Given the description of an element on the screen output the (x, y) to click on. 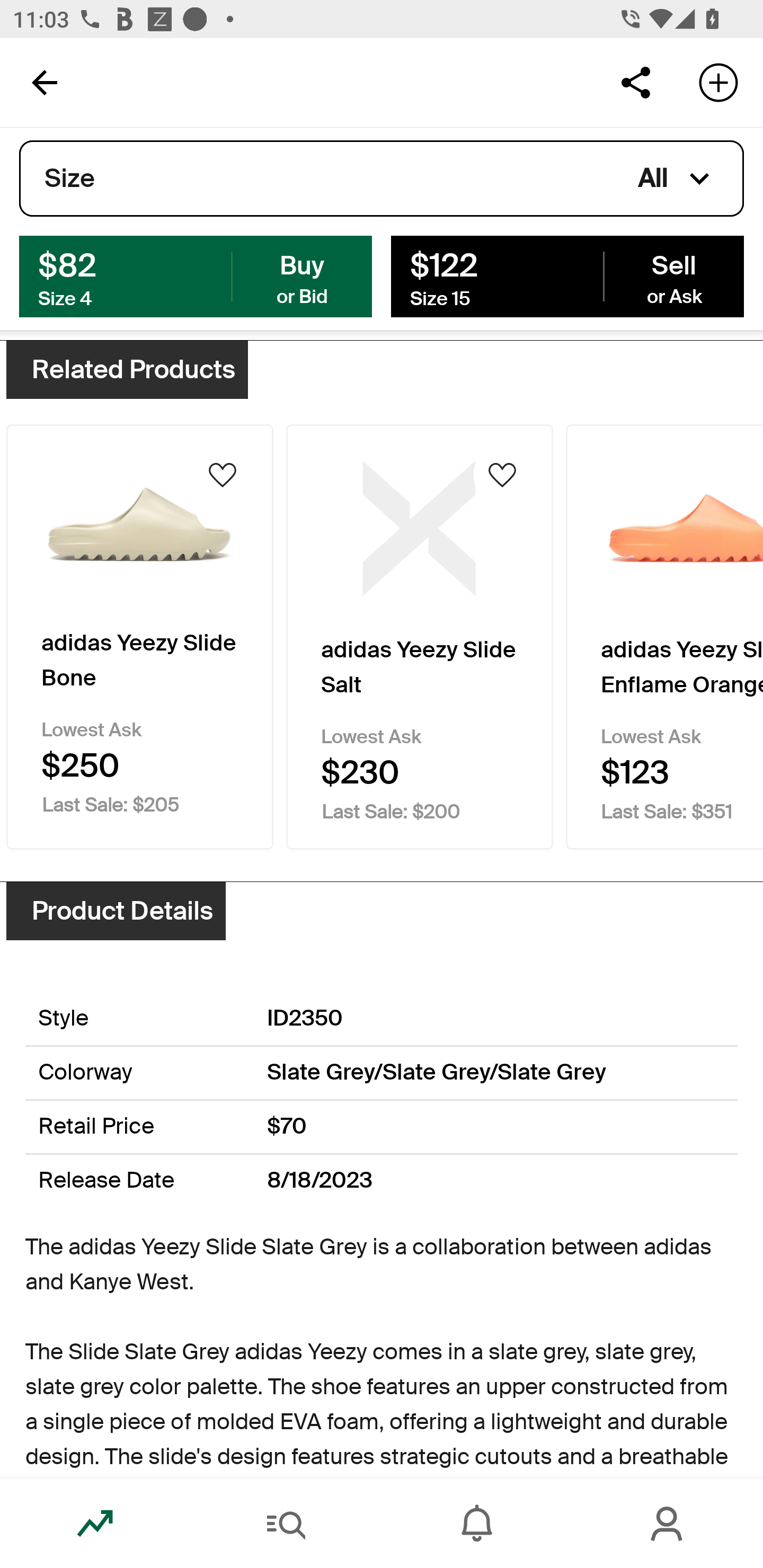
Share (635, 81)
Add (718, 81)
Size All (381, 178)
$82 Buy Size 4 or Bid (195, 275)
$122 Sell Size 15 or Ask (566, 275)
Search (285, 1523)
Inbox (476, 1523)
Account (667, 1523)
